Given the description of an element on the screen output the (x, y) to click on. 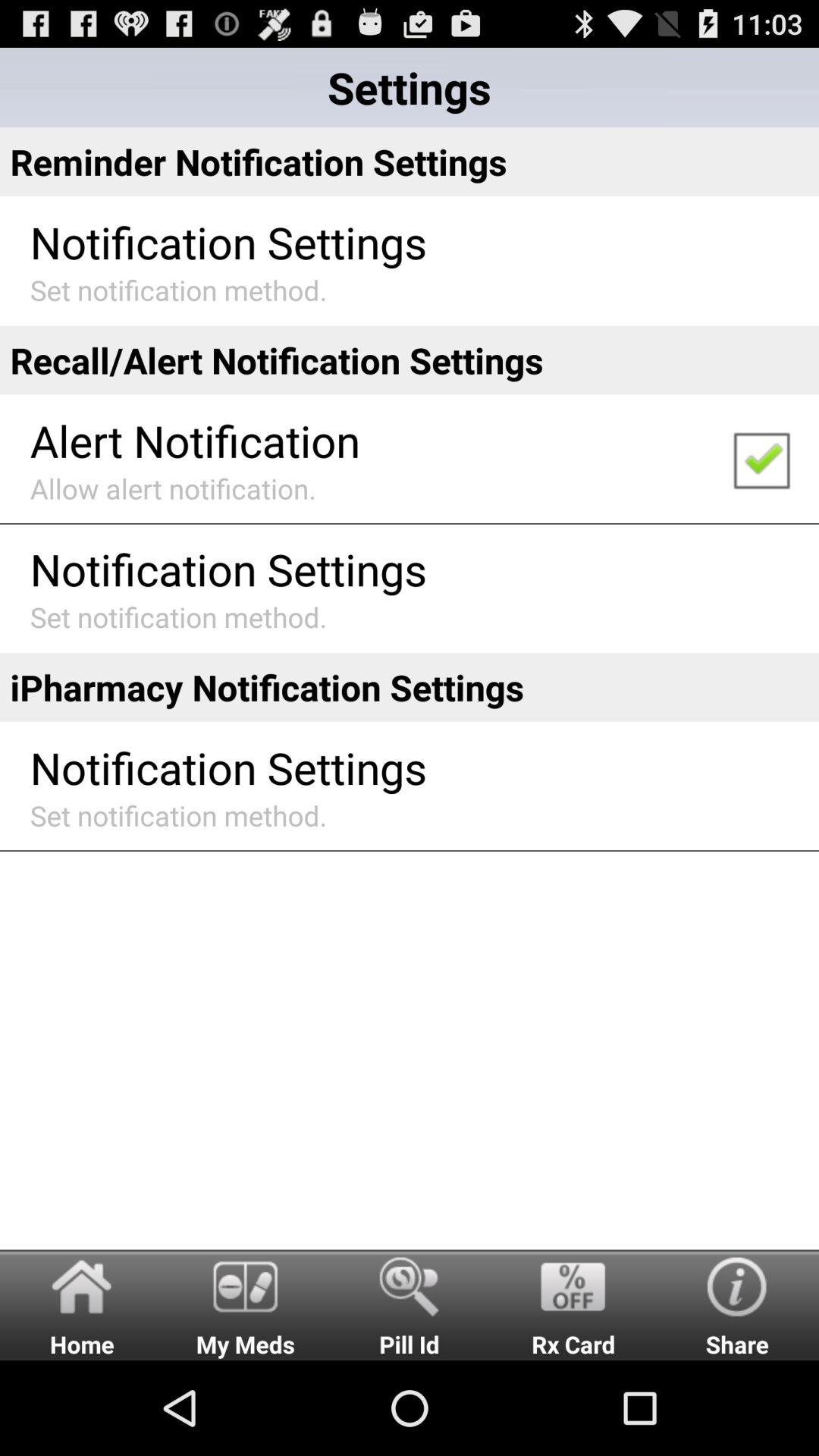
tap rx card item (573, 1304)
